Given the description of an element on the screen output the (x, y) to click on. 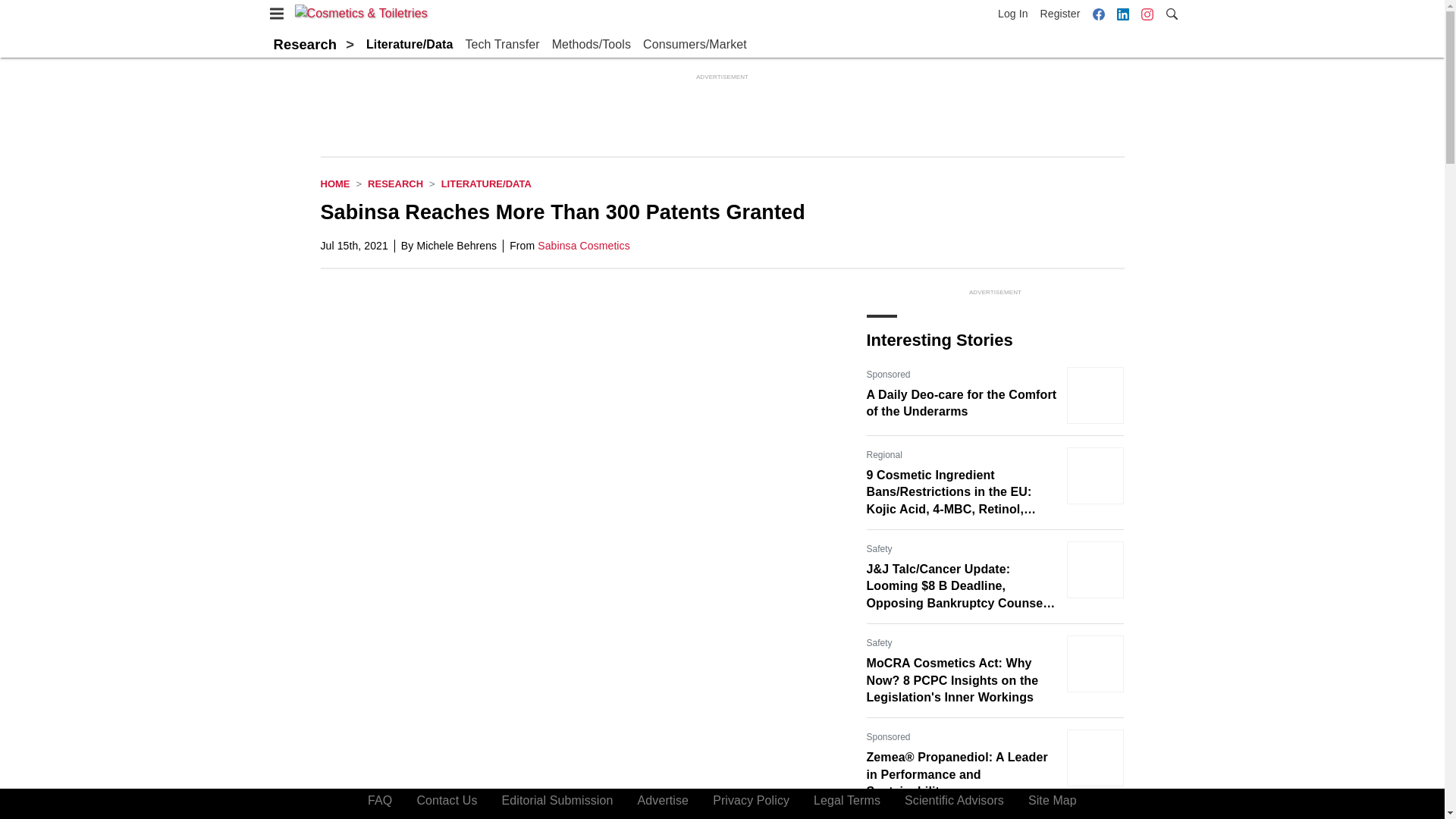
Facebook icon (1097, 14)
Facebook icon (1097, 13)
Search (1170, 12)
LinkedIn icon (1121, 13)
Instagram icon (1146, 14)
Sponsored (888, 736)
Research (304, 44)
Sponsored (888, 374)
Home (334, 183)
Research (395, 183)
Log In (1015, 13)
Instagram icon (1146, 13)
LinkedIn icon (1122, 14)
Register (1059, 13)
Tech Transfer (501, 44)
